Given the description of an element on the screen output the (x, y) to click on. 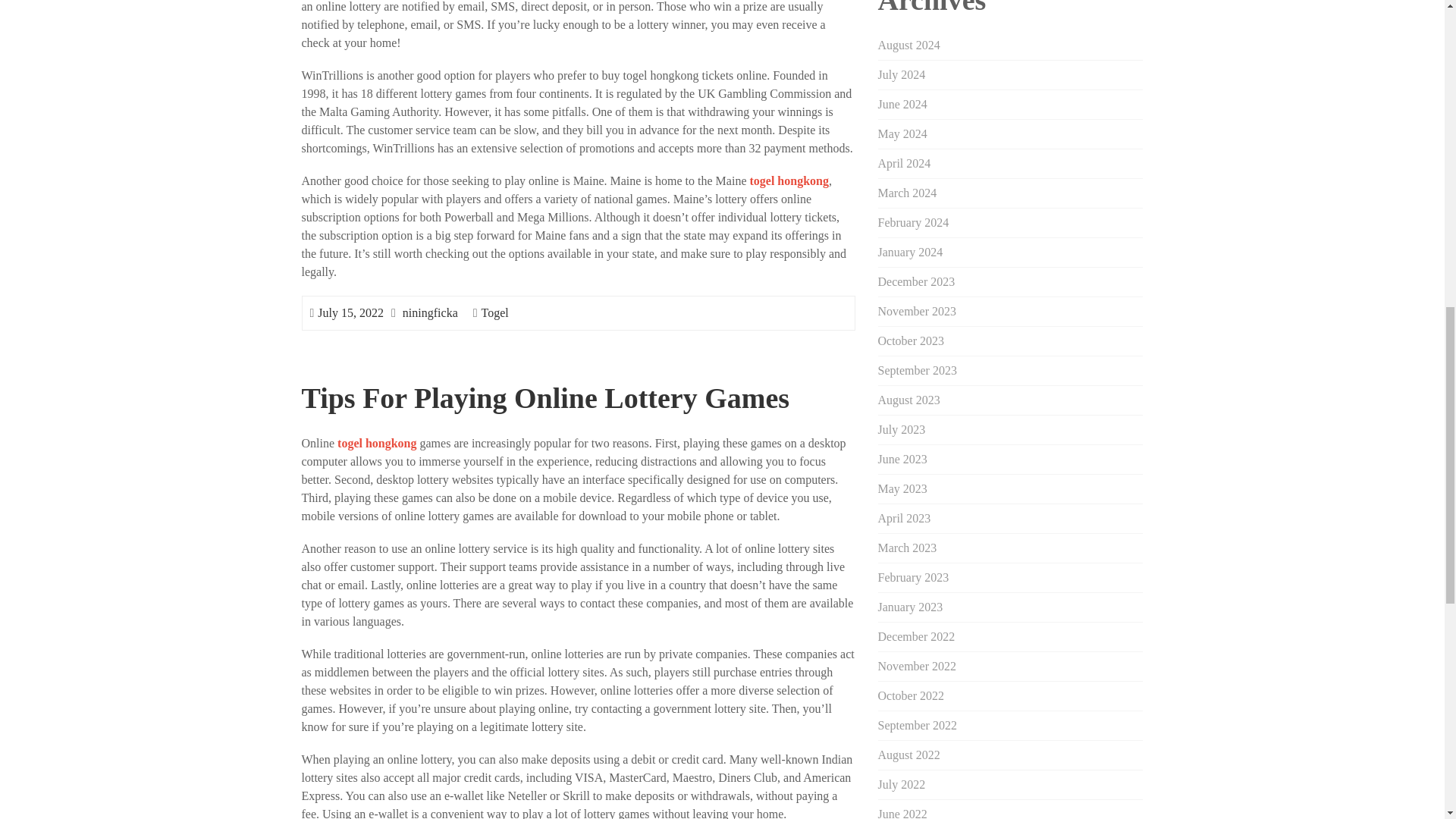
December 2023 (916, 281)
May 2024 (902, 133)
September 2023 (916, 369)
August 2024 (908, 44)
July 2024 (901, 74)
Togel (494, 312)
February 2023 (913, 576)
January 2024 (910, 251)
togel hongkong (788, 180)
niningficka (430, 312)
